Given the description of an element on the screen output the (x, y) to click on. 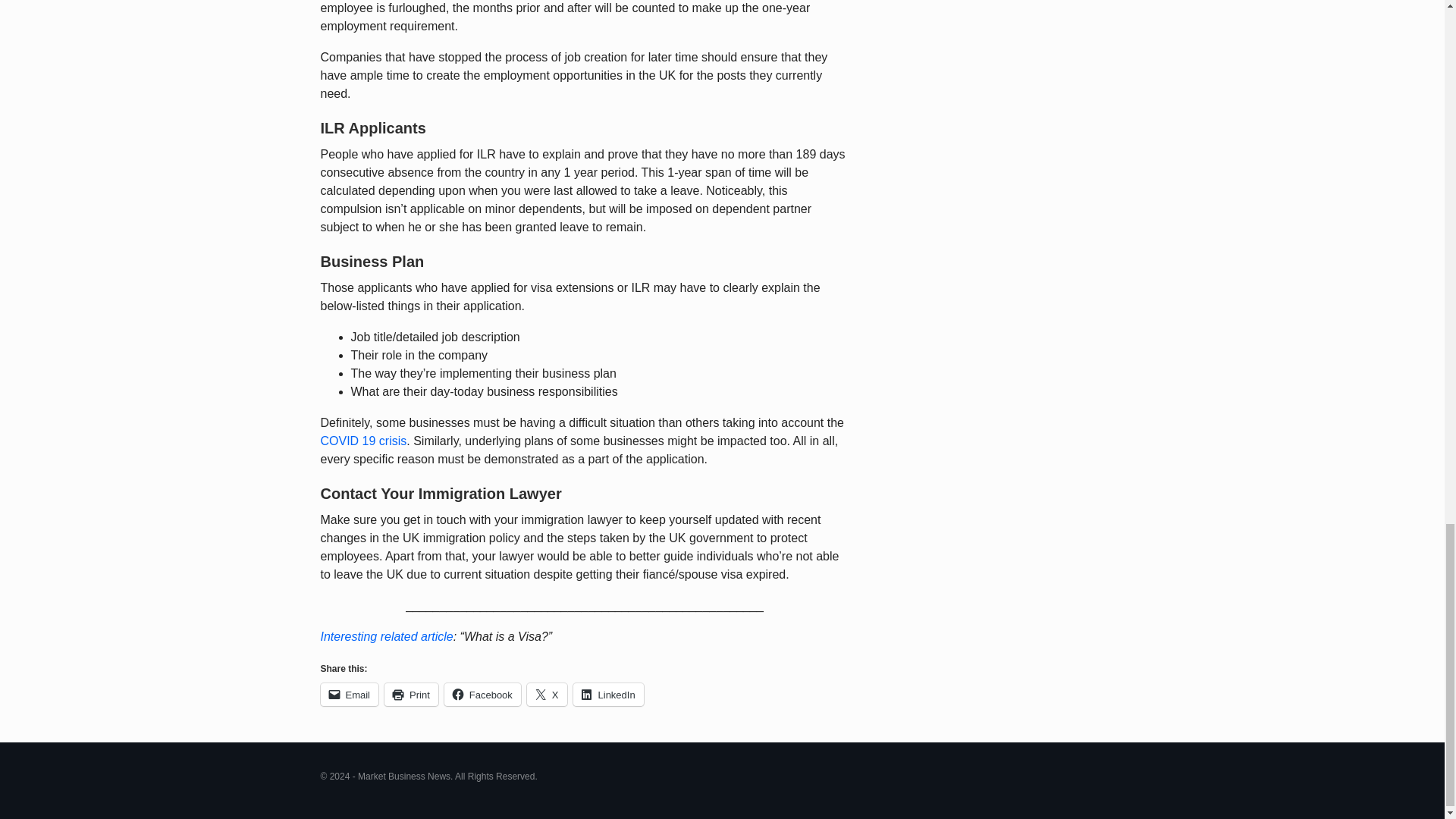
Click to print (411, 694)
COVID 19 crisis (363, 440)
Print (411, 694)
LinkedIn (608, 694)
Facebook (482, 694)
Click to share on X (547, 694)
Click to email a link to a friend (349, 694)
Interesting related article (386, 635)
X (547, 694)
Email (349, 694)
Click to share on Facebook (482, 694)
Click to share on LinkedIn (608, 694)
